Given the description of an element on the screen output the (x, y) to click on. 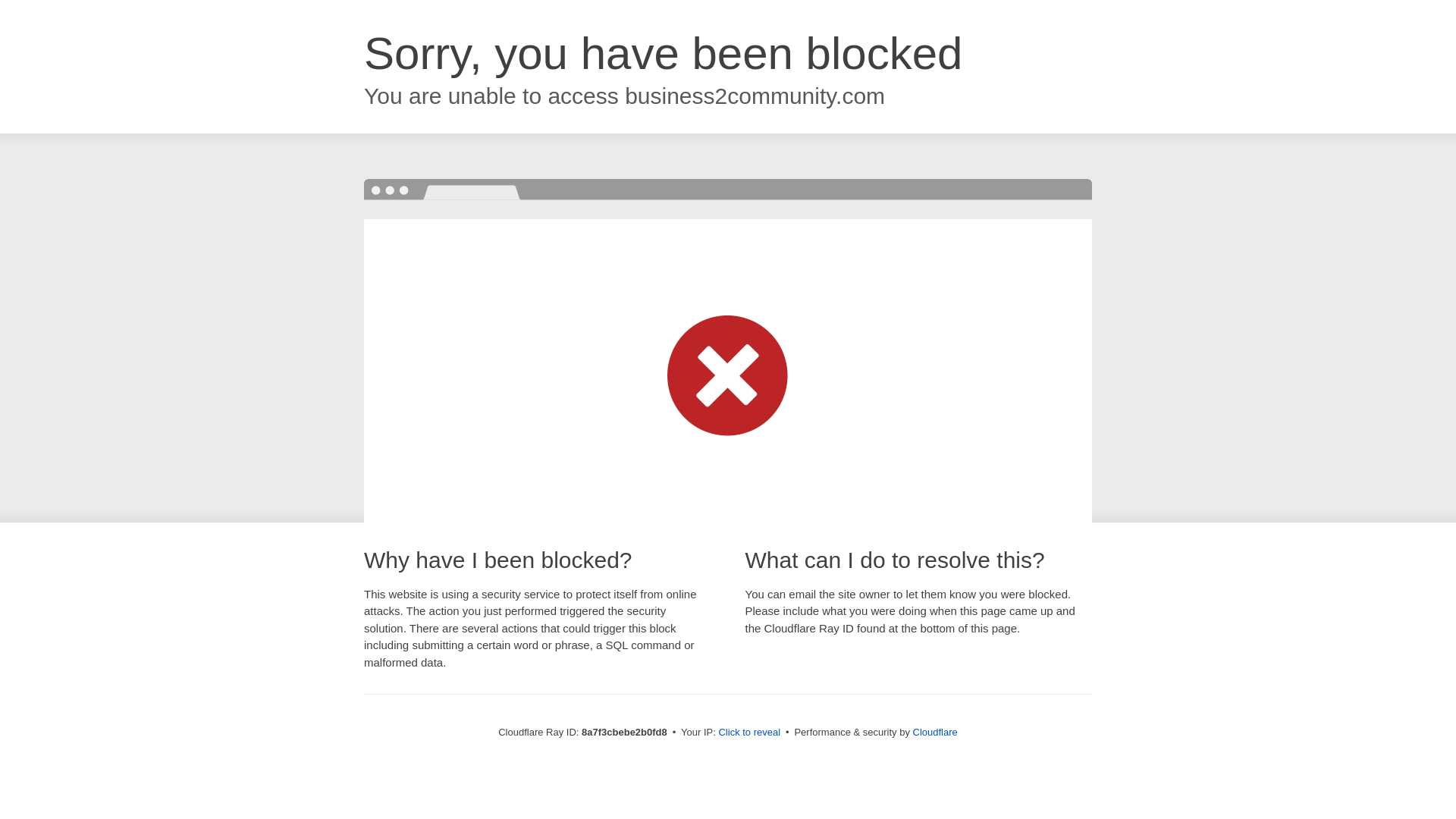
Click to reveal (748, 732)
Cloudflare (935, 731)
